Given the description of an element on the screen output the (x, y) to click on. 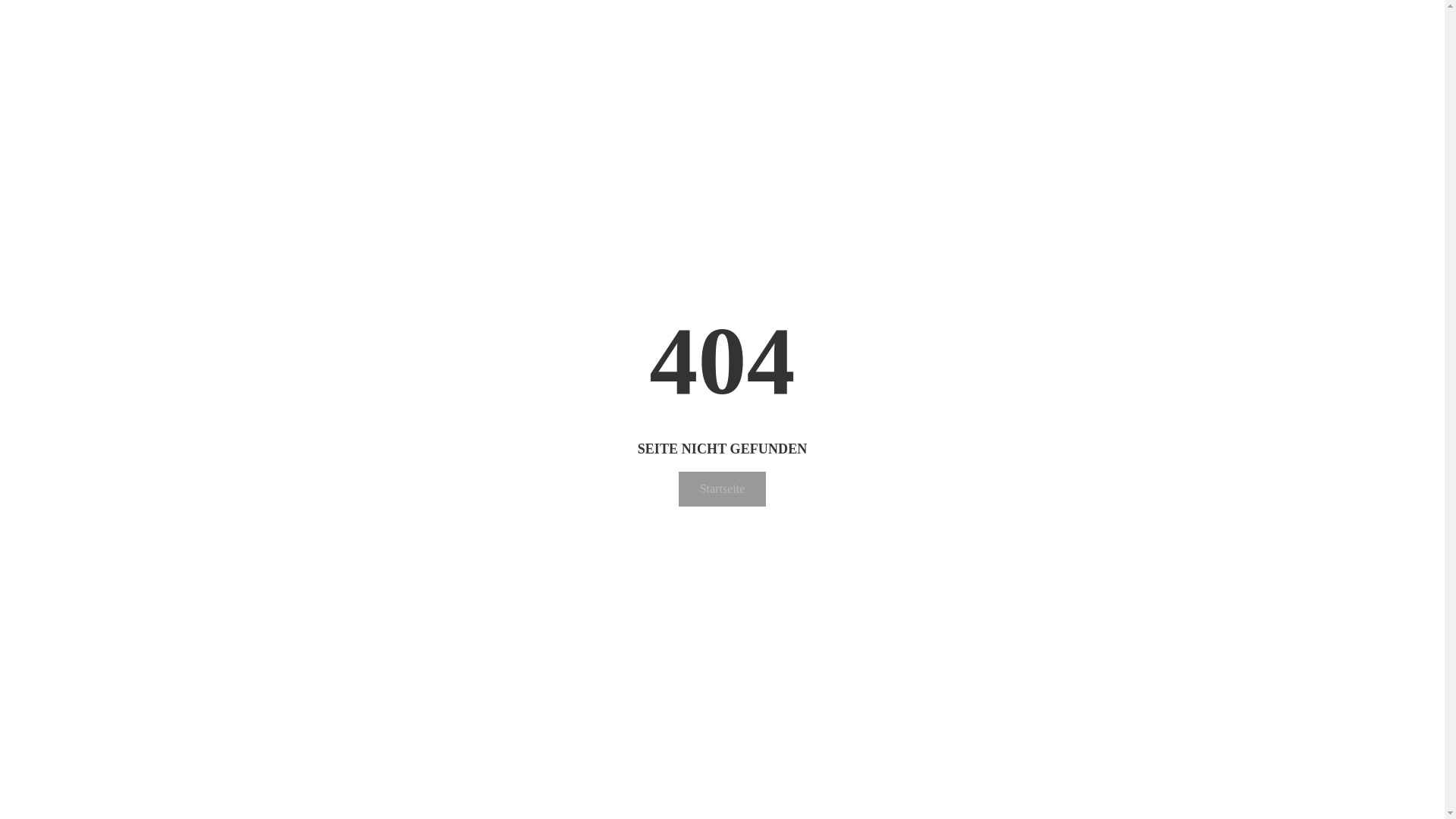
Startseite Element type: text (722, 488)
